Given the description of an element on the screen output the (x, y) to click on. 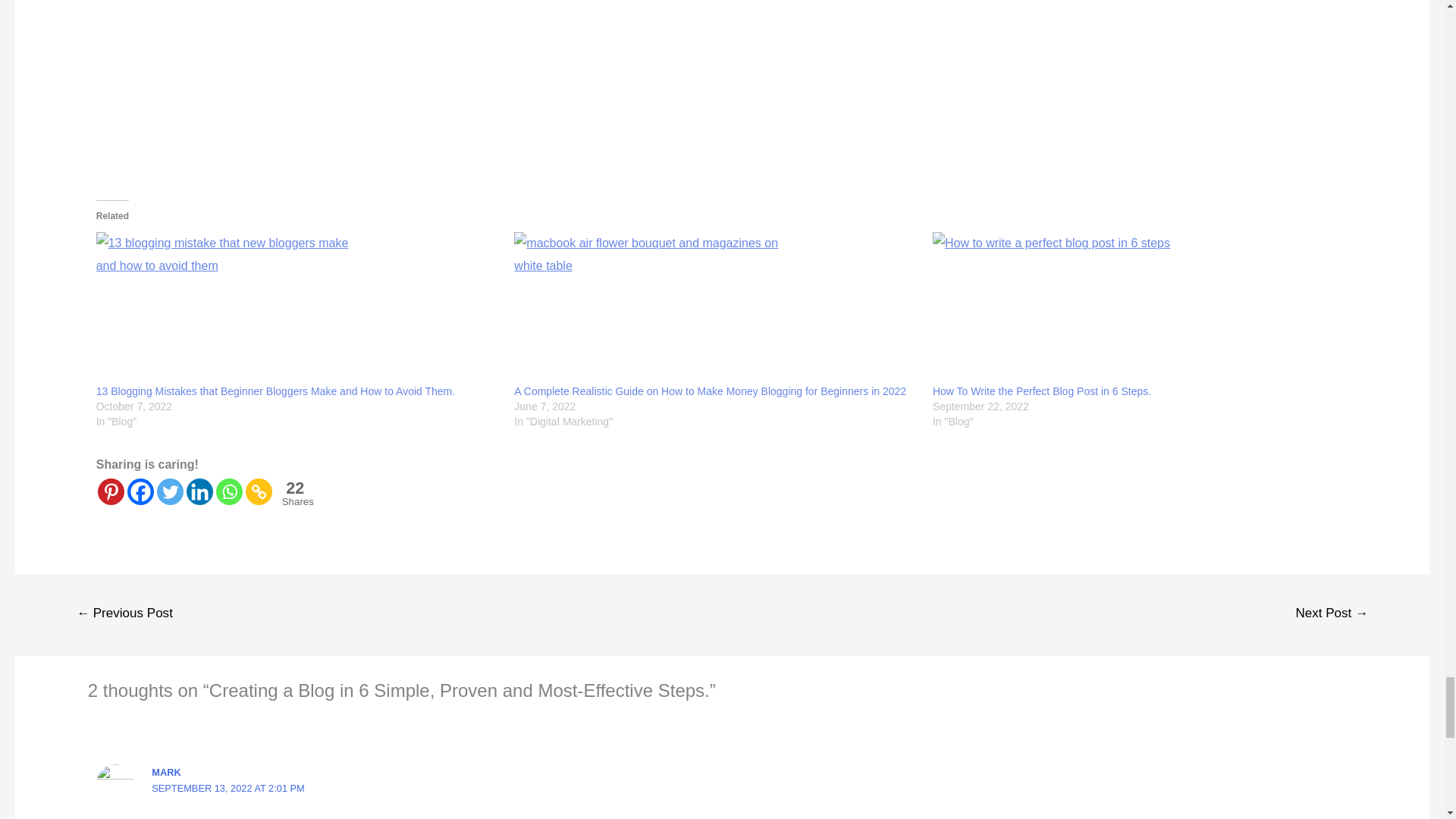
Facebook (141, 491)
Twitter (170, 491)
How To Write the Perfect Blog Post in 6 Steps. (1134, 307)
How To Write the Perfect Blog Post in 6 Steps. (1042, 390)
Linkedin (199, 491)
Pinterest (110, 491)
